Given the description of an element on the screen output the (x, y) to click on. 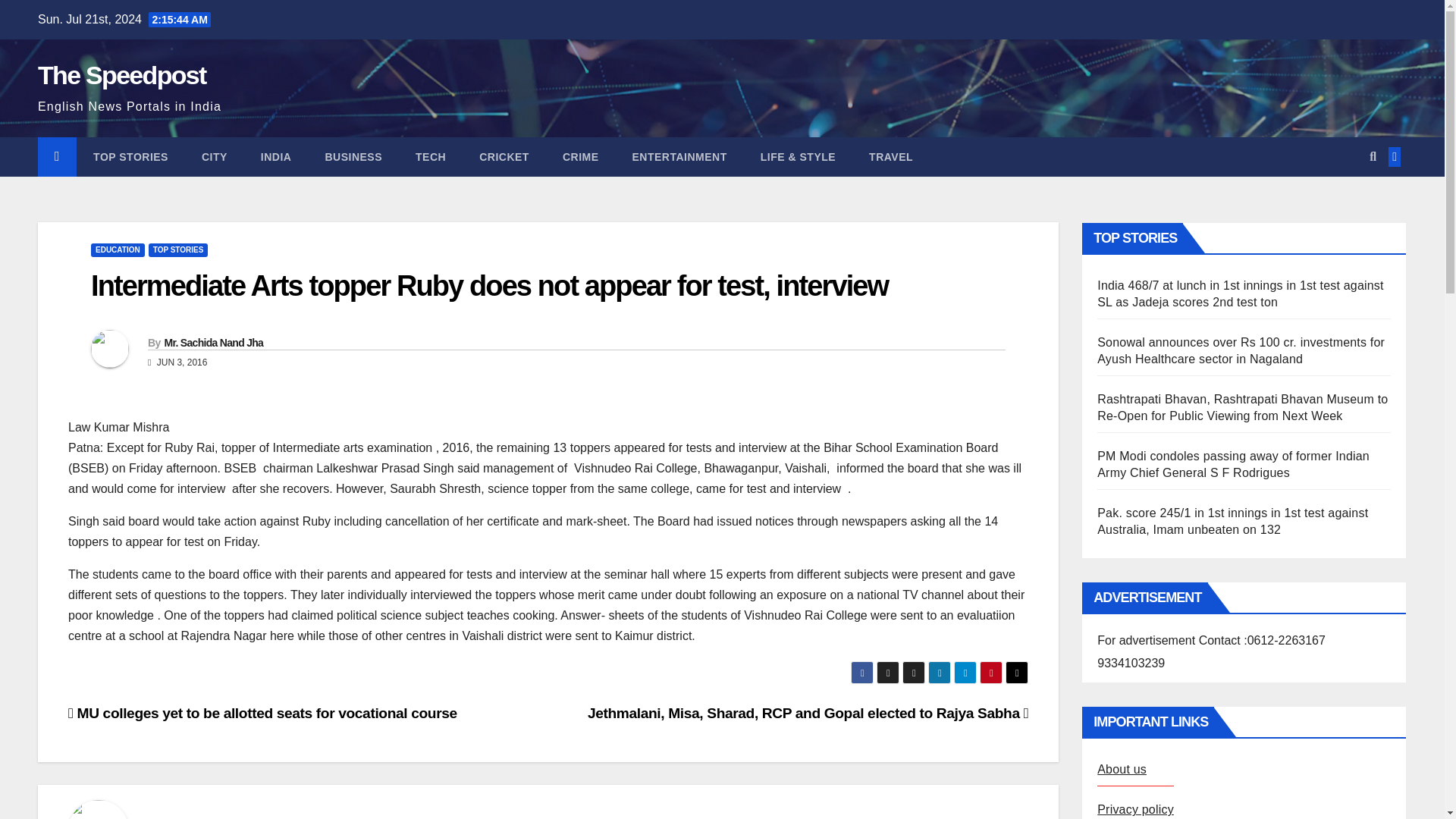
Mr. Sachida Nand Jha (213, 342)
TECH (430, 156)
TOP STORIES (130, 156)
City (214, 156)
MU colleges yet to be allotted seats for vocational course (262, 713)
The Speedpost (121, 74)
CRIME (580, 156)
EDUCATION (117, 250)
Travel (890, 156)
BUSINESS (352, 156)
Cricket (504, 156)
Entertainment (679, 156)
